Given the description of an element on the screen output the (x, y) to click on. 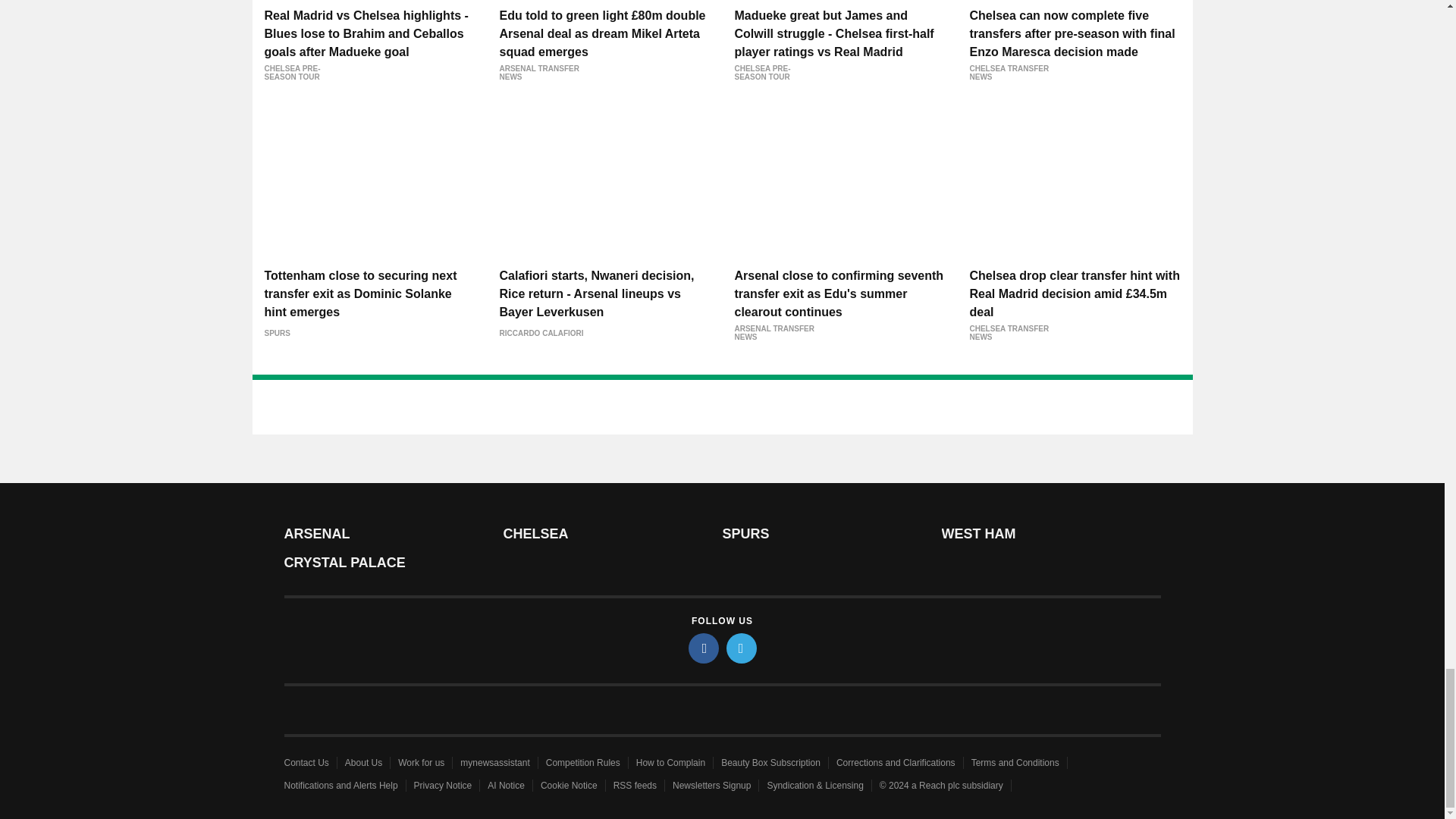
facebook (703, 648)
twitter (741, 648)
